Given the description of an element on the screen output the (x, y) to click on. 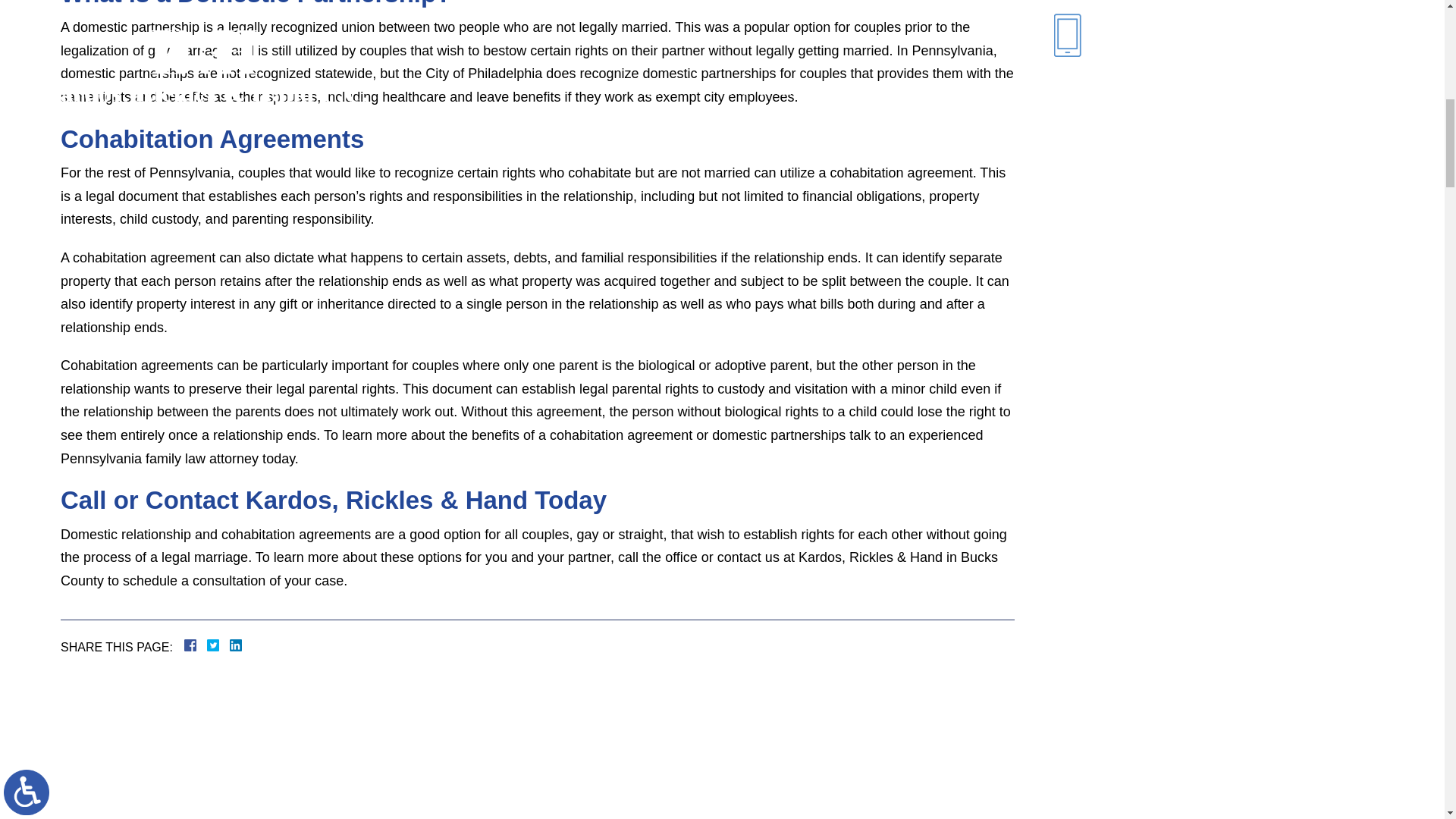
LinkedIn (229, 645)
Twitter (219, 645)
Facebook (208, 645)
